Given the description of an element on the screen output the (x, y) to click on. 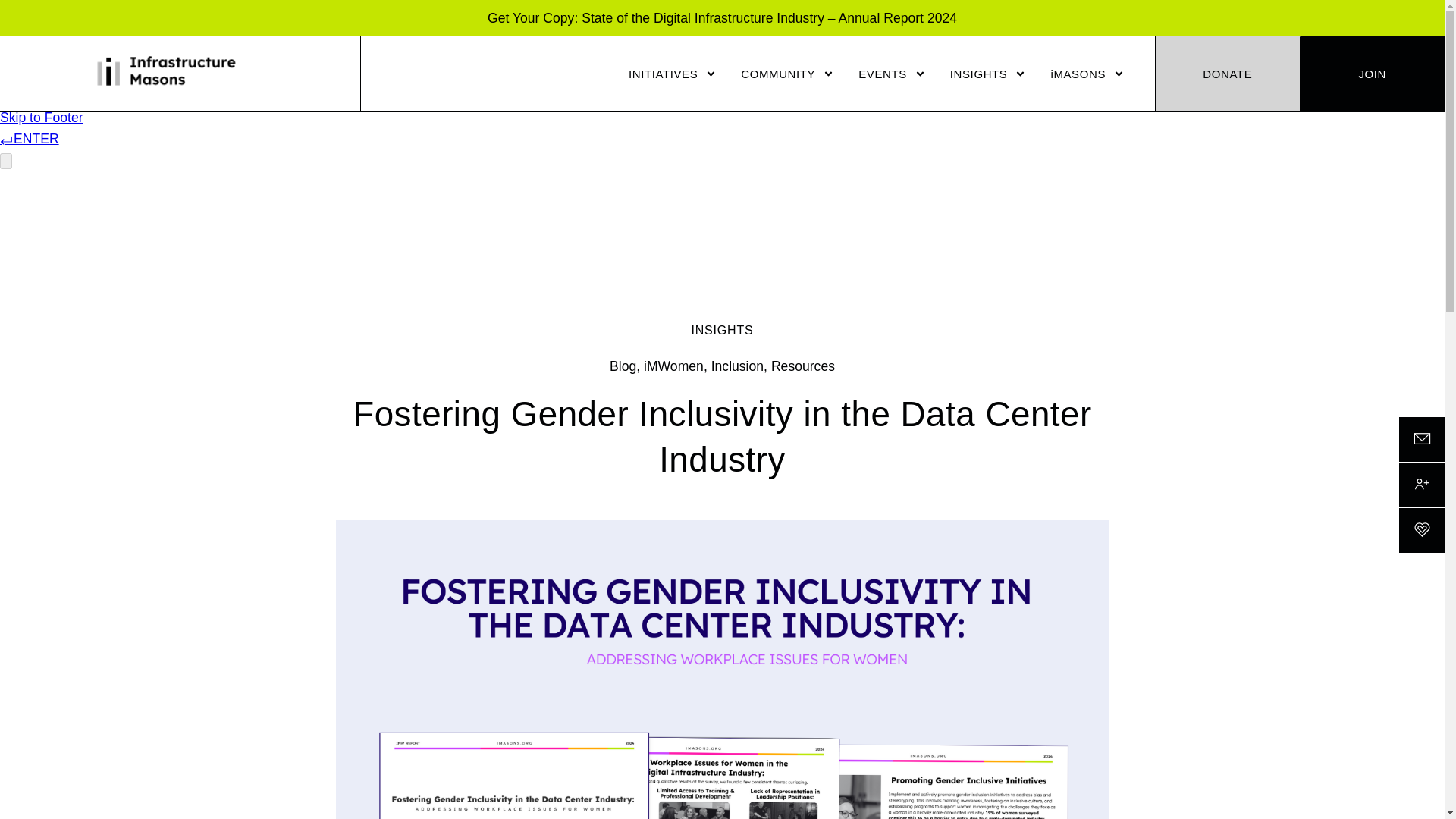
COMMUNITY (787, 74)
INITIATIVES (672, 74)
EVENTS (891, 74)
